Given the description of an element on the screen output the (x, y) to click on. 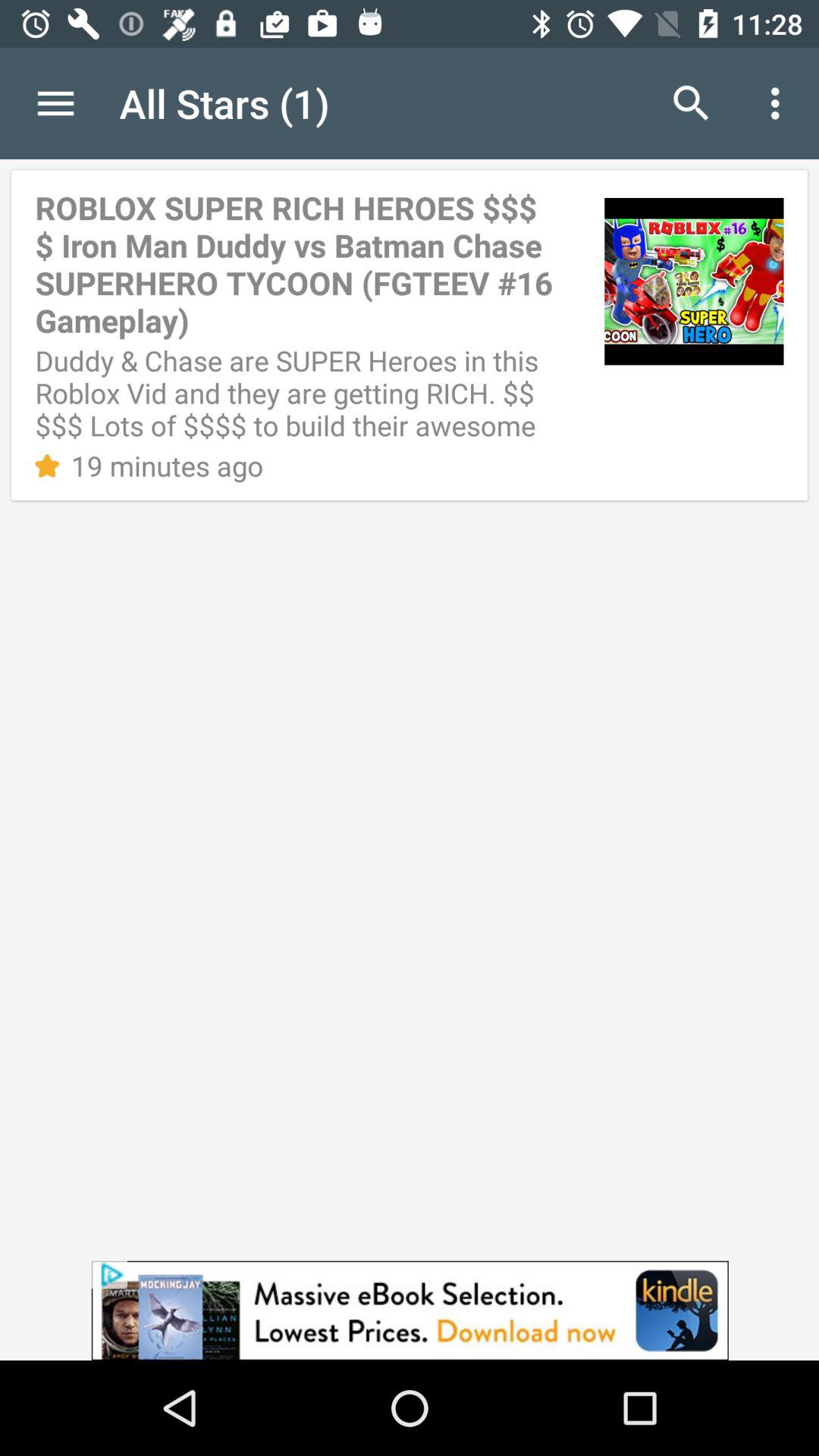
advertisement (409, 1310)
